Given the description of an element on the screen output the (x, y) to click on. 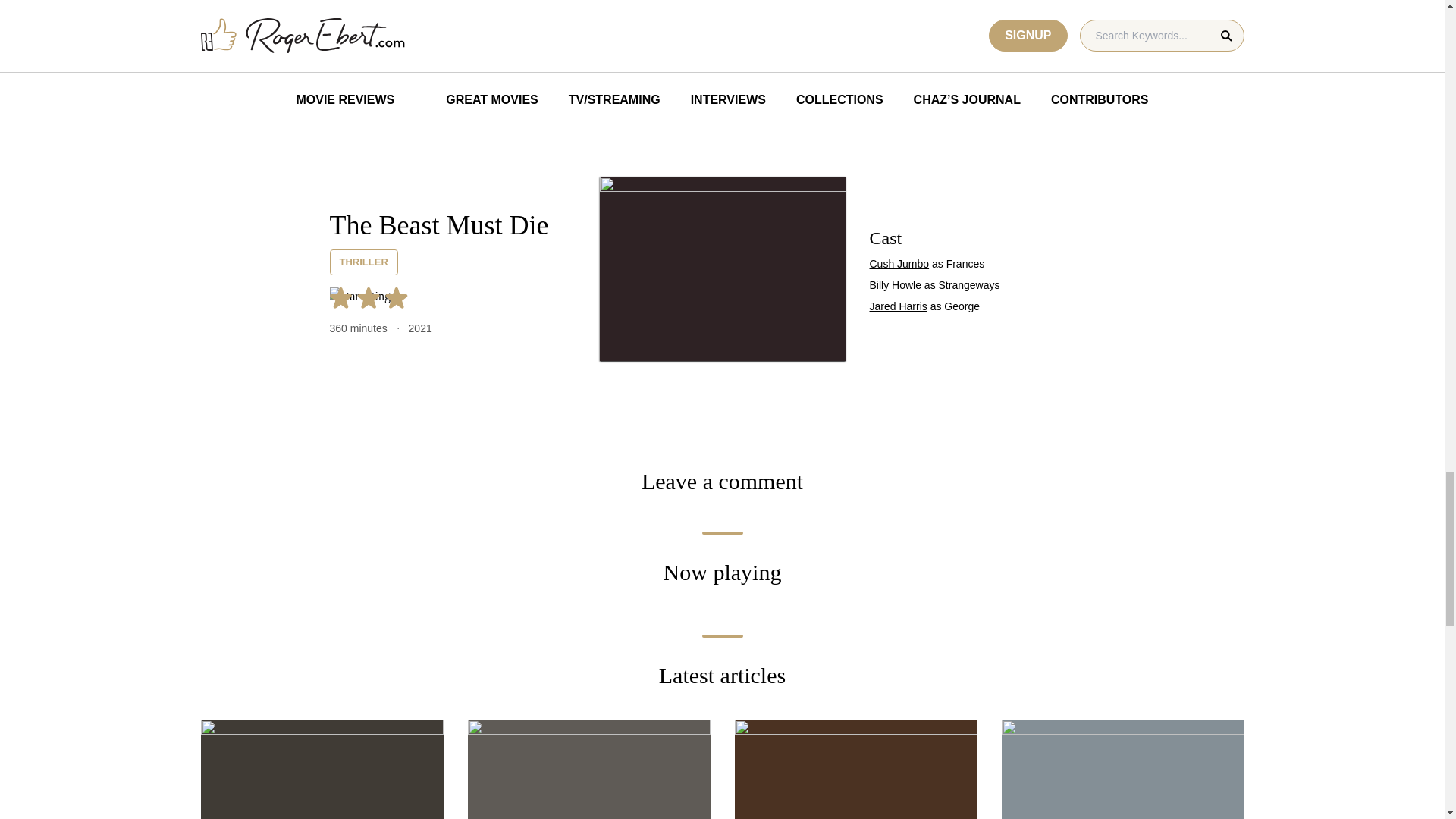
Brian Tallerico (525, 8)
THRILLER (363, 262)
Billy Howle (894, 285)
Cush Jumbo (898, 263)
Jared Harris (897, 306)
